Given the description of an element on the screen output the (x, y) to click on. 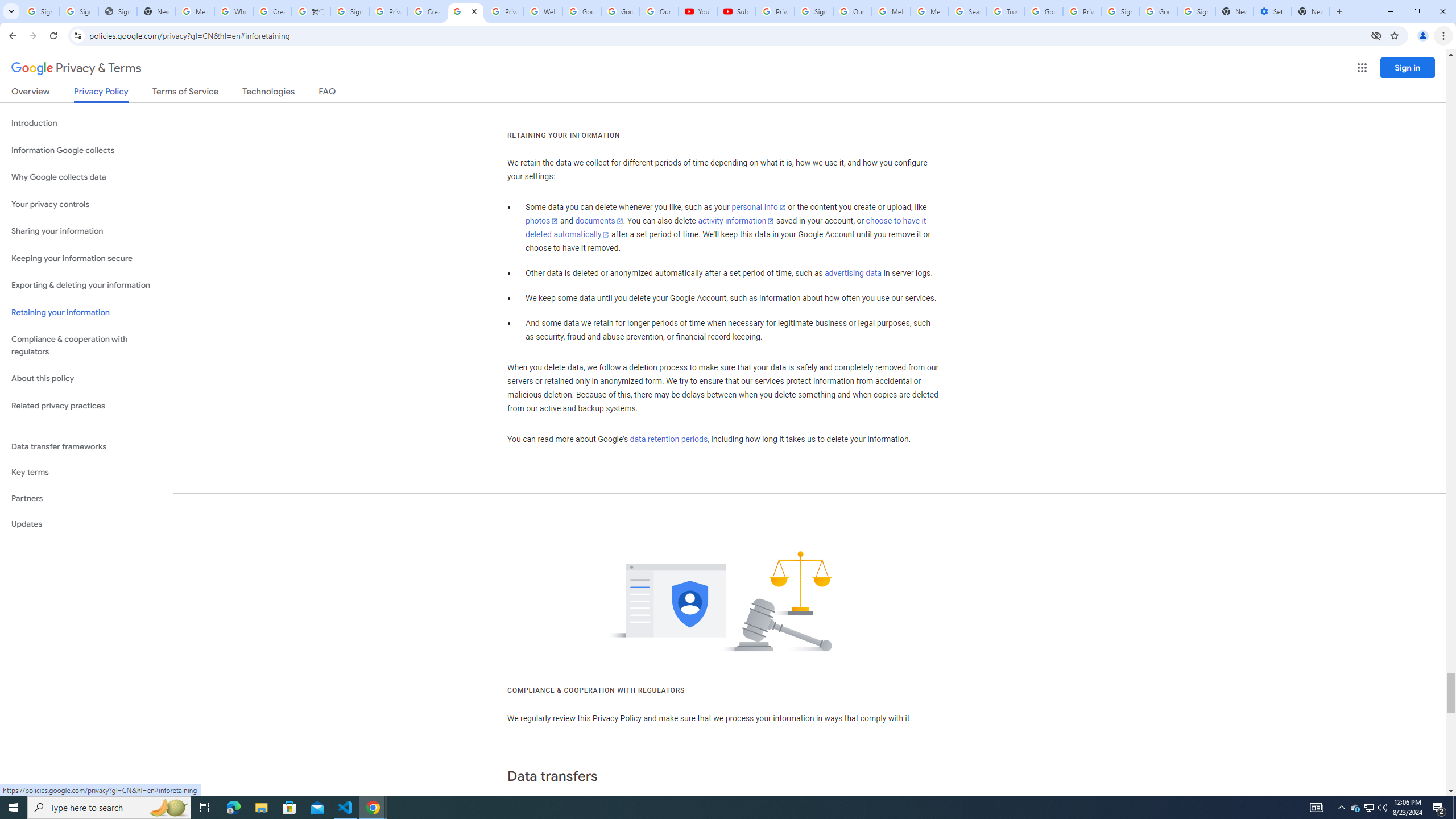
Settings - Addresses and more (1272, 11)
Google Cybersecurity Innovations - Google Safety Center (1158, 11)
data retention periods (667, 439)
Create your Google Account (427, 11)
Welcome to My Activity (542, 11)
